Given the description of an element on the screen output the (x, y) to click on. 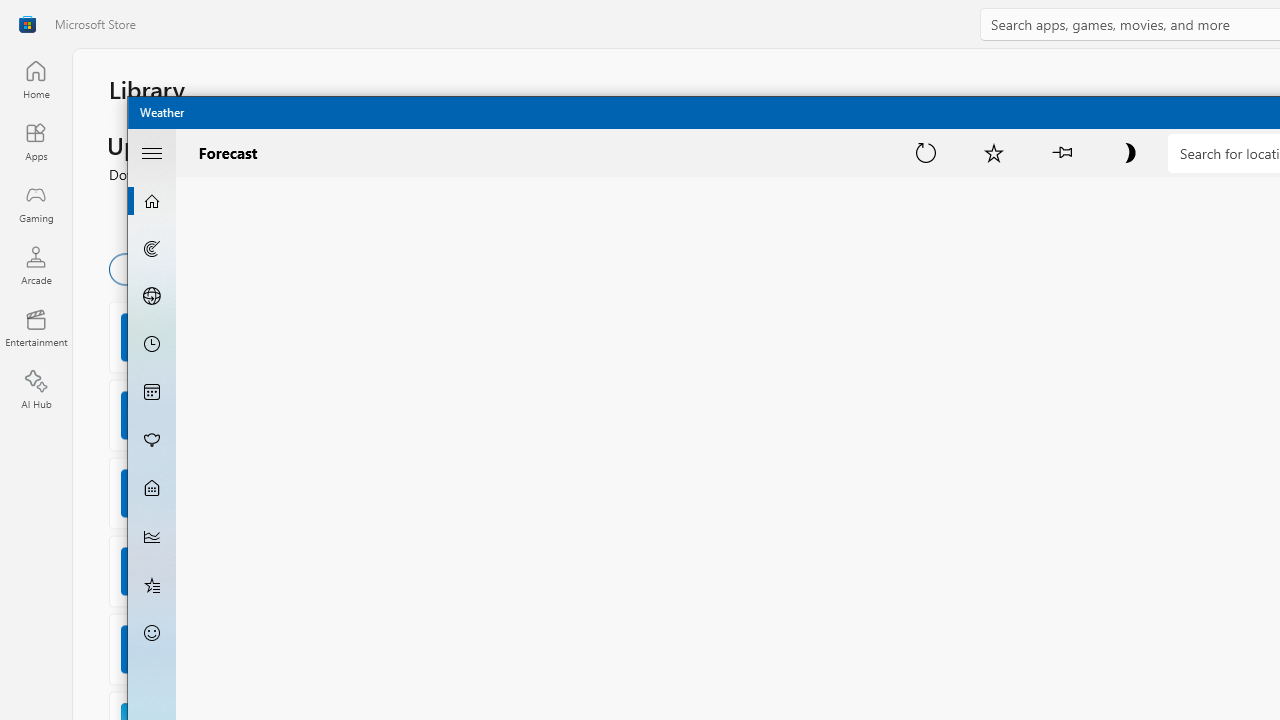
AI Hub (35, 390)
Home (35, 79)
Arcade (35, 265)
Gaming (35, 203)
Entertainment (35, 327)
